Given the description of an element on the screen output the (x, y) to click on. 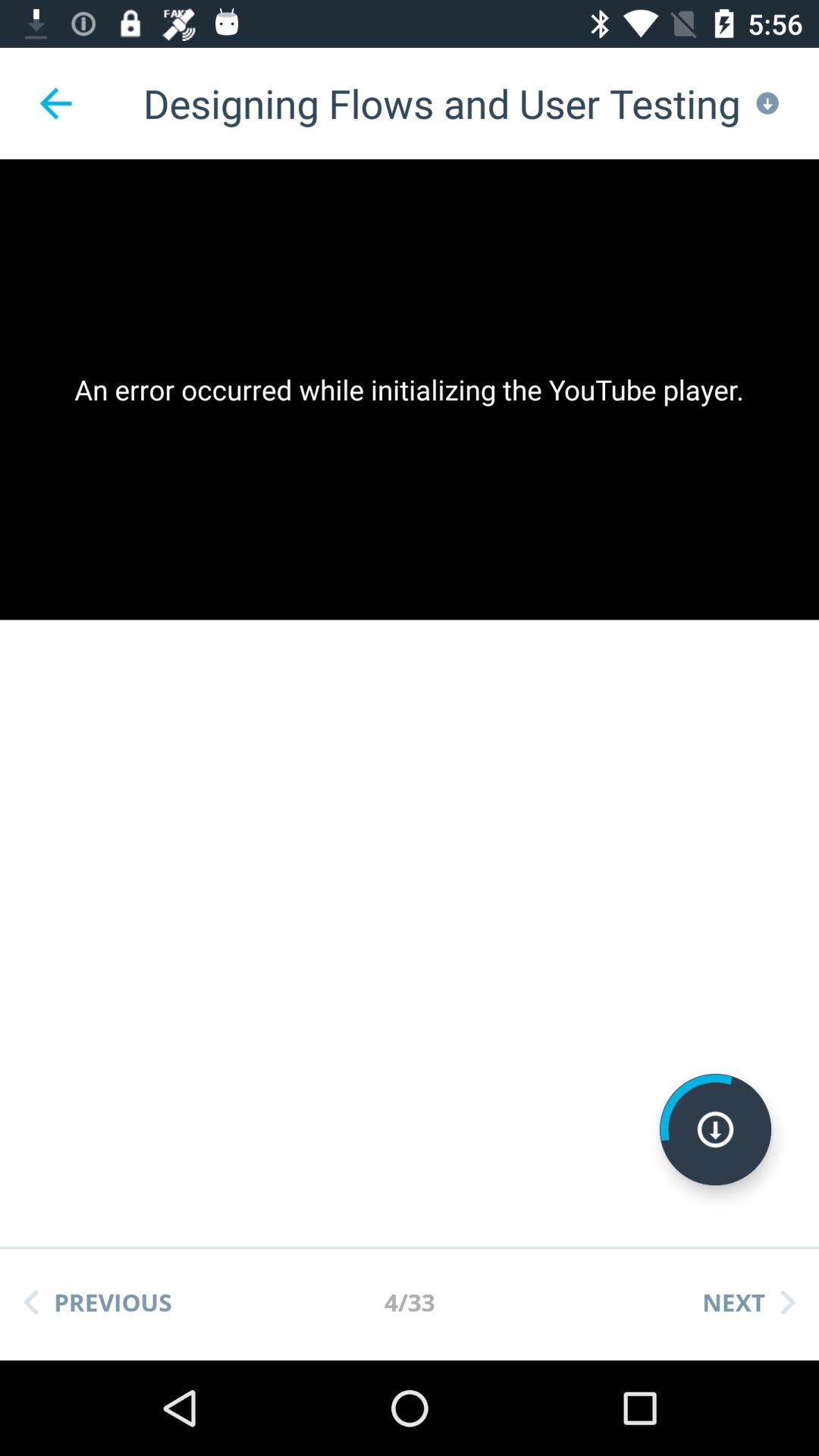
choose item next to the 4/33 icon (97, 1302)
